Given the description of an element on the screen output the (x, y) to click on. 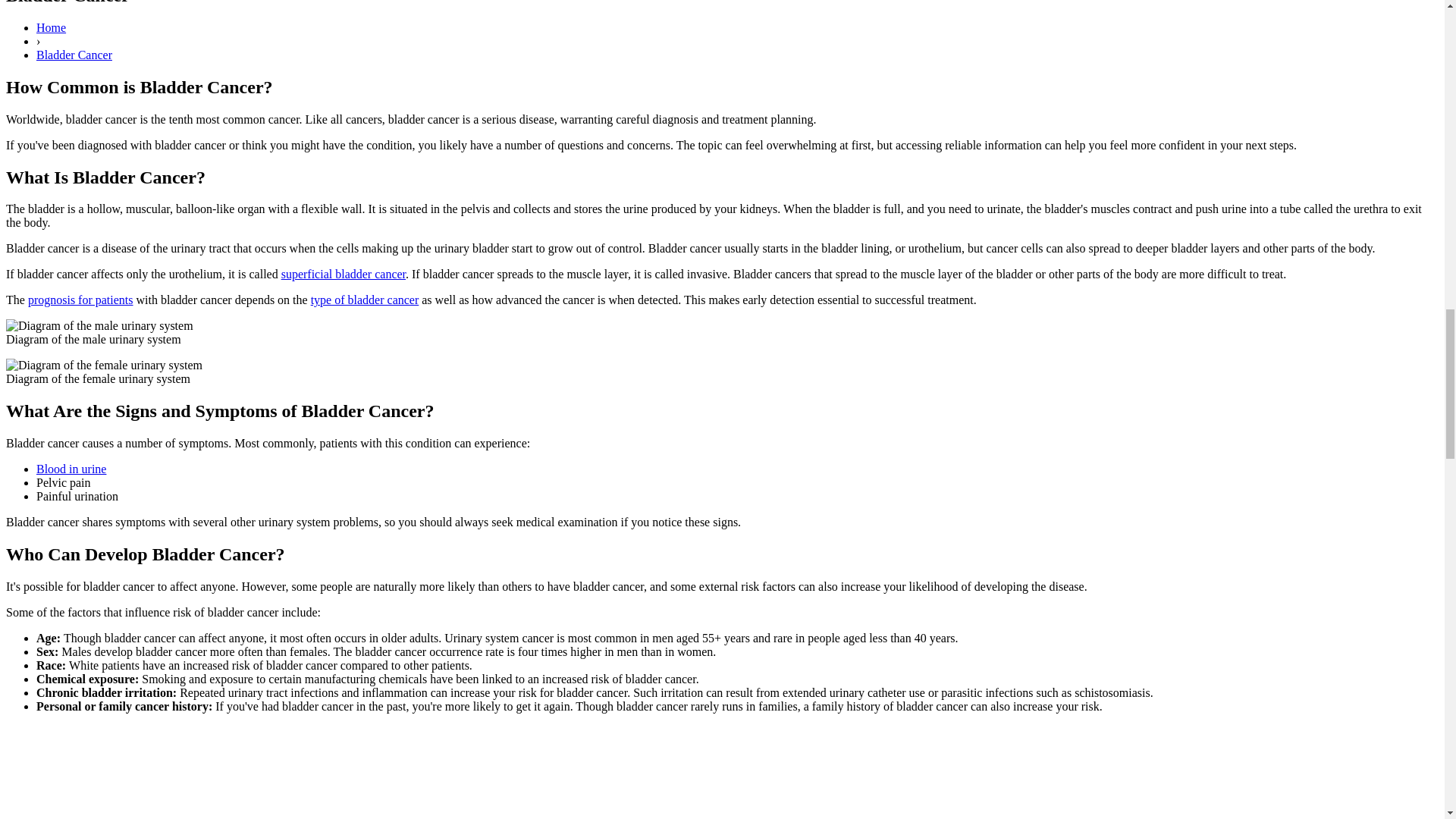
YouTube video player (217, 772)
Bladder cancer detection (80, 299)
